Given the description of an element on the screen output the (x, y) to click on. 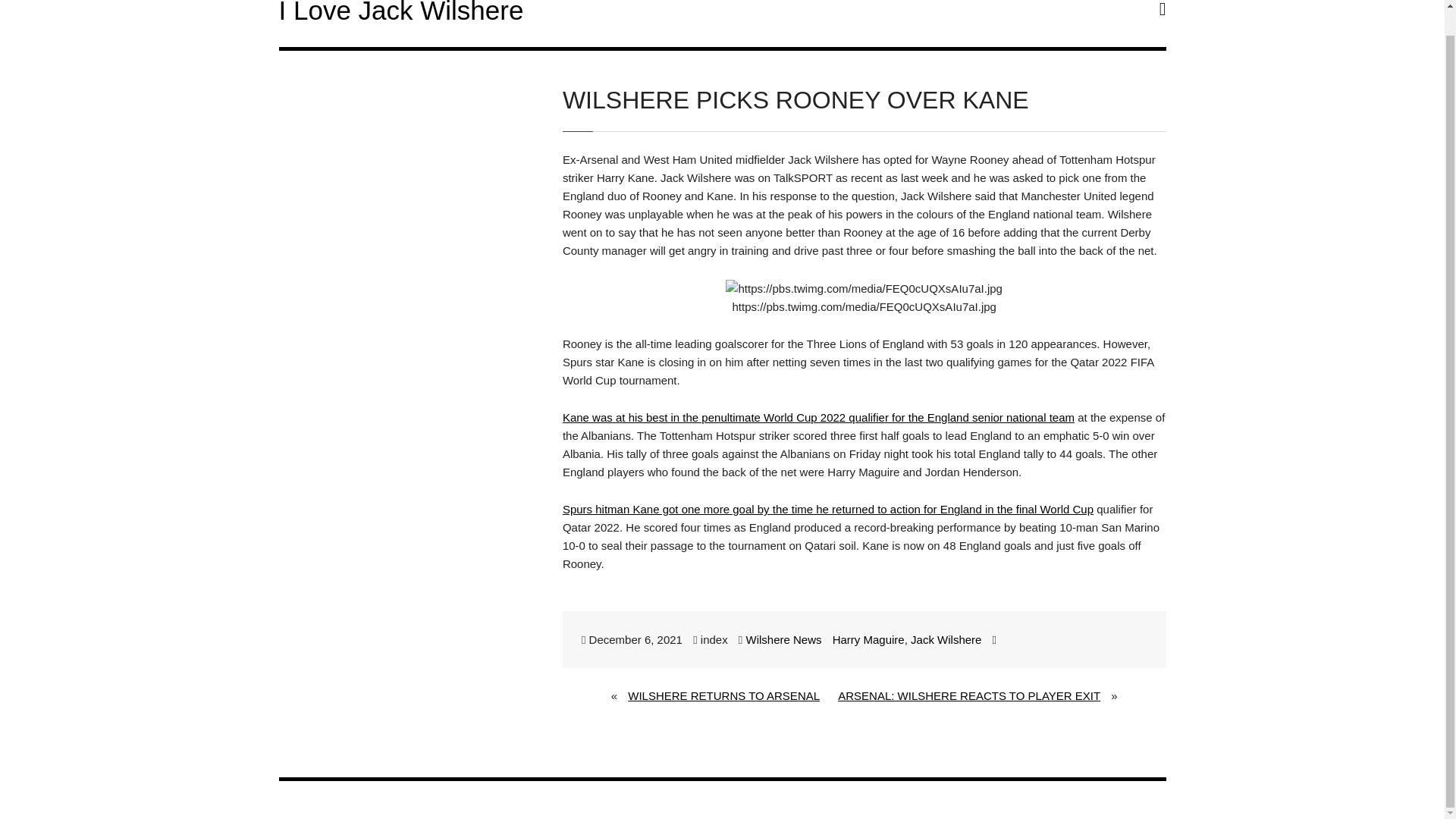
Harry Maguire (868, 639)
I Love Jack Wilshere (401, 12)
WILSHERE RETURNS TO ARSENAL (723, 696)
ARSENAL: WILSHERE REACTS TO PLAYER EXIT (969, 696)
Wilshere News (783, 639)
Jack Wilshere (946, 639)
